Given the description of an element on the screen output the (x, y) to click on. 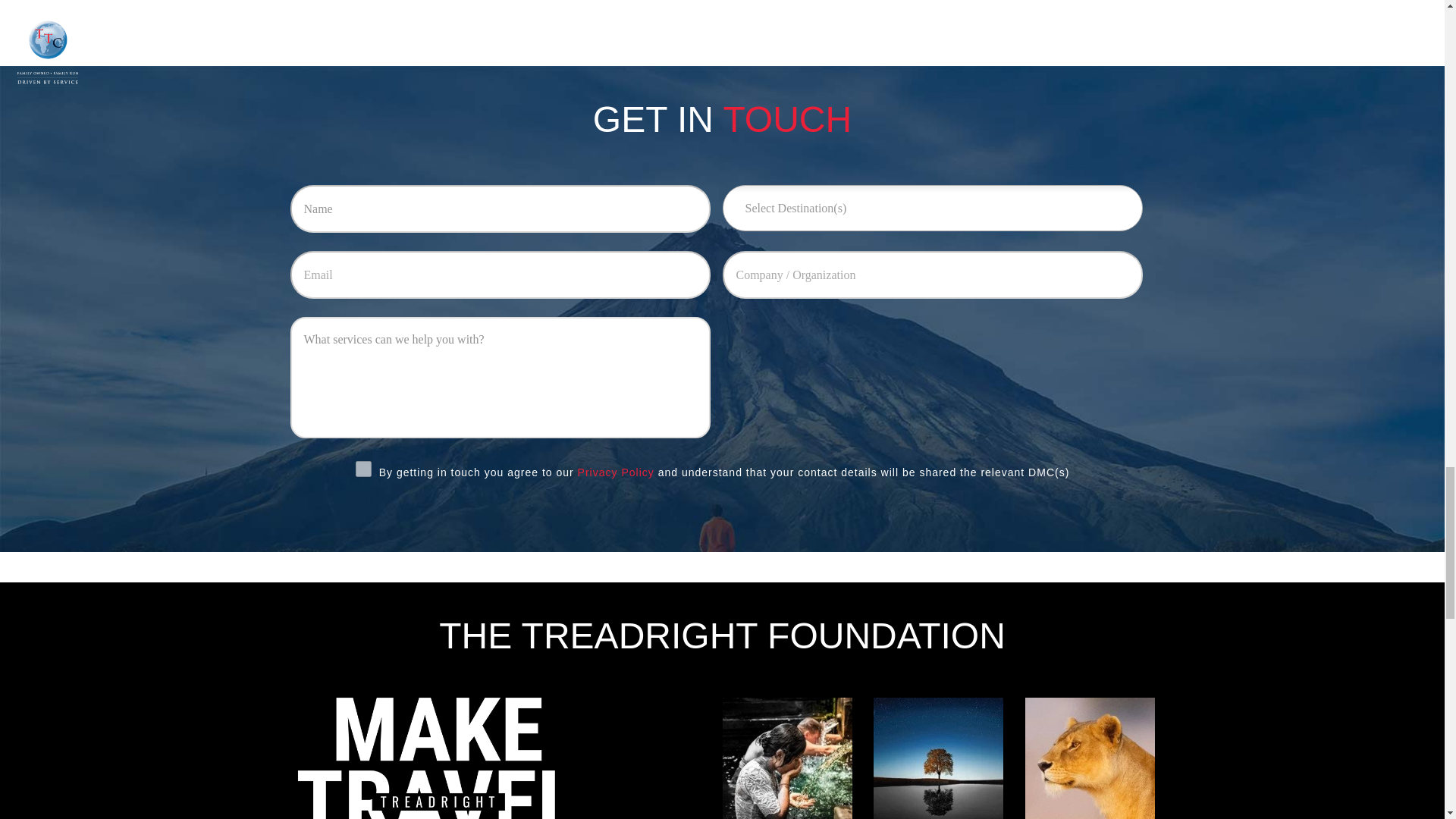
1 (363, 468)
